Given the description of an element on the screen output the (x, y) to click on. 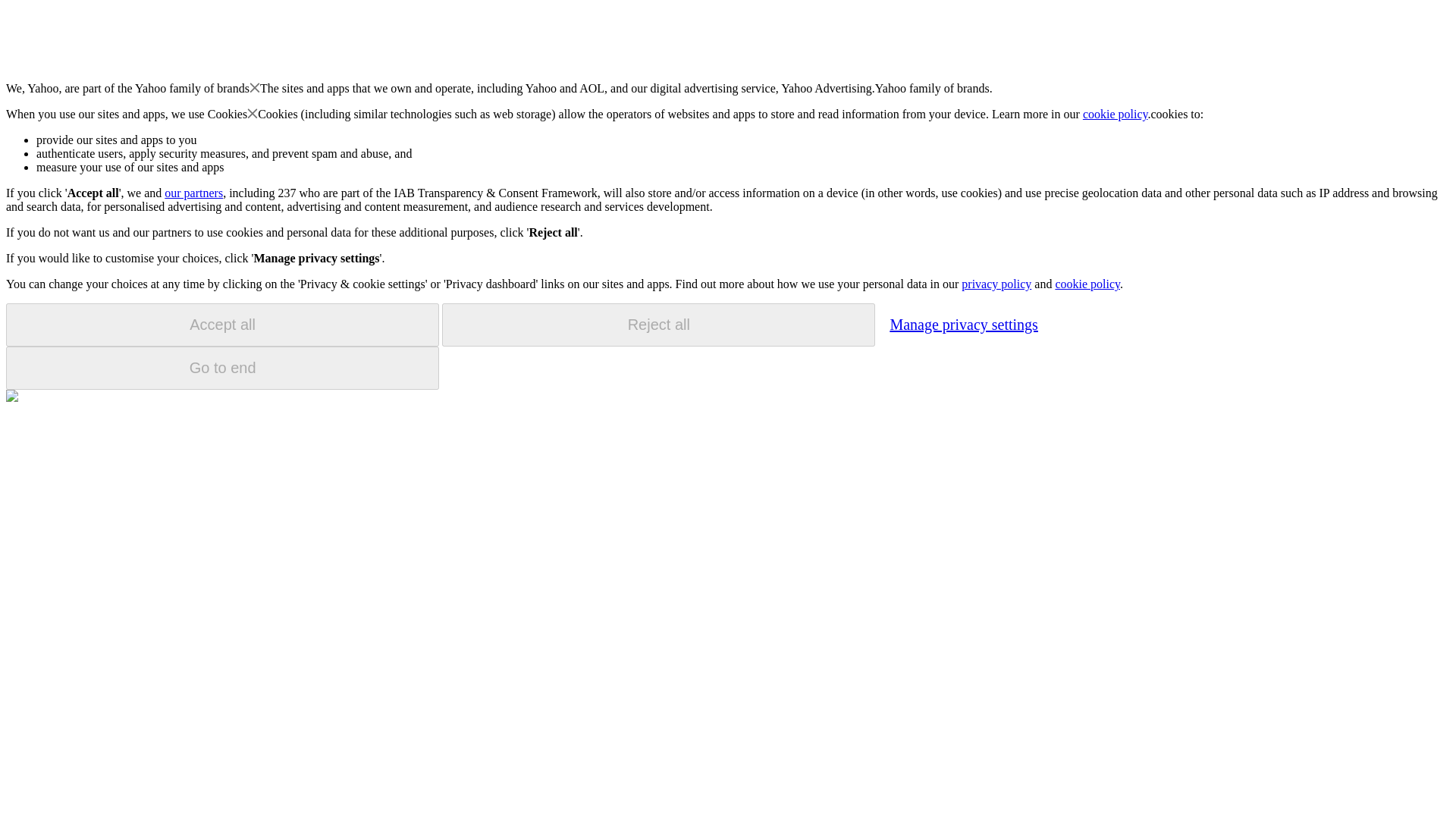
cookie policy (1115, 113)
Reject all (658, 324)
Go to end (222, 367)
privacy policy (995, 283)
cookie policy (1086, 283)
our partners (193, 192)
Accept all (222, 324)
Manage privacy settings (963, 323)
